Given the description of an element on the screen output the (x, y) to click on. 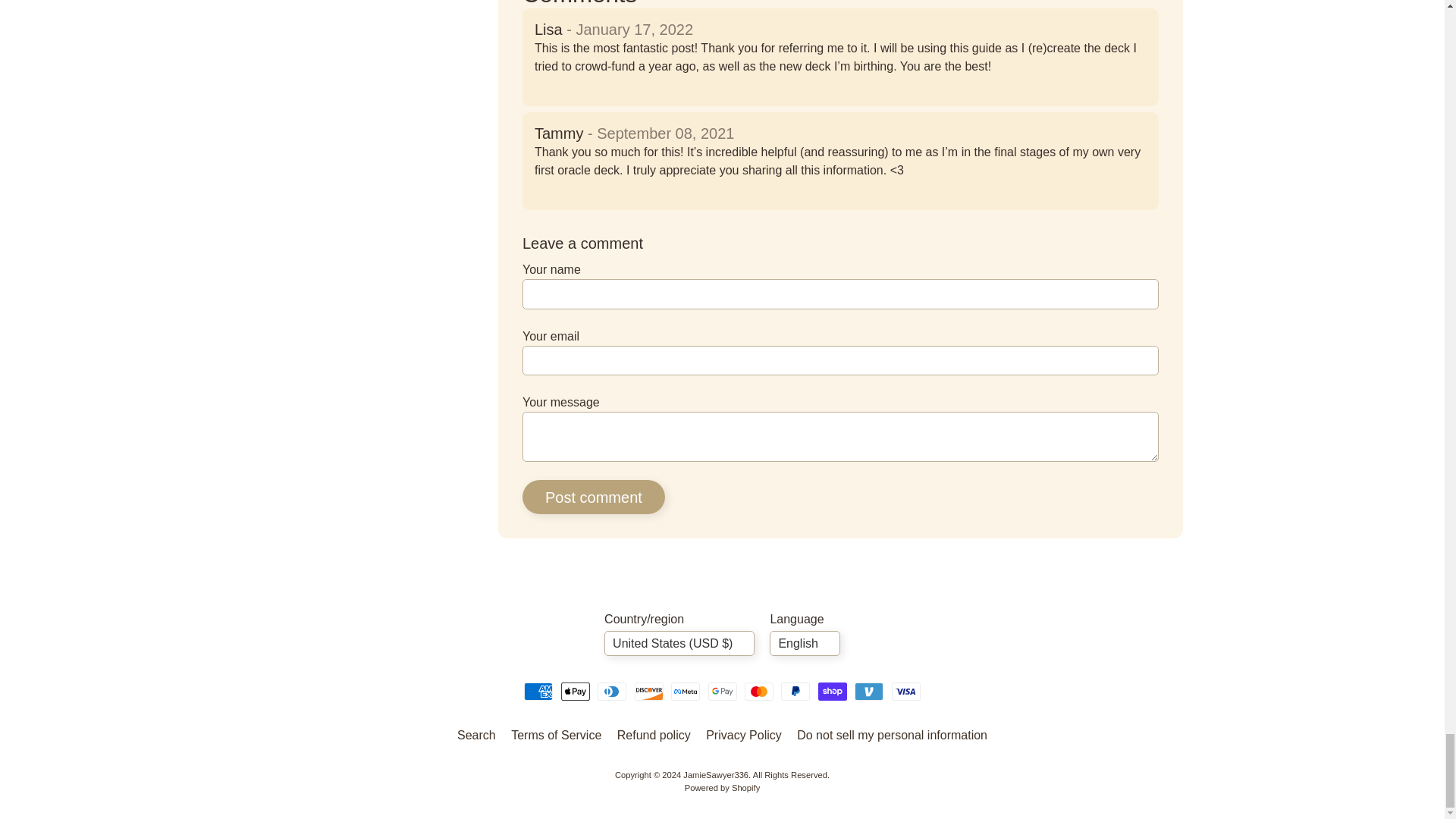
Apple Pay (574, 691)
Visa (905, 691)
Meta Pay (685, 691)
Shop Pay (832, 691)
PayPal (794, 691)
American Express (538, 691)
Venmo (868, 691)
Mastercard (758, 691)
Post comment (593, 496)
Discover (648, 691)
Google Pay (721, 691)
Diners Club (611, 691)
